Given the description of an element on the screen output the (x, y) to click on. 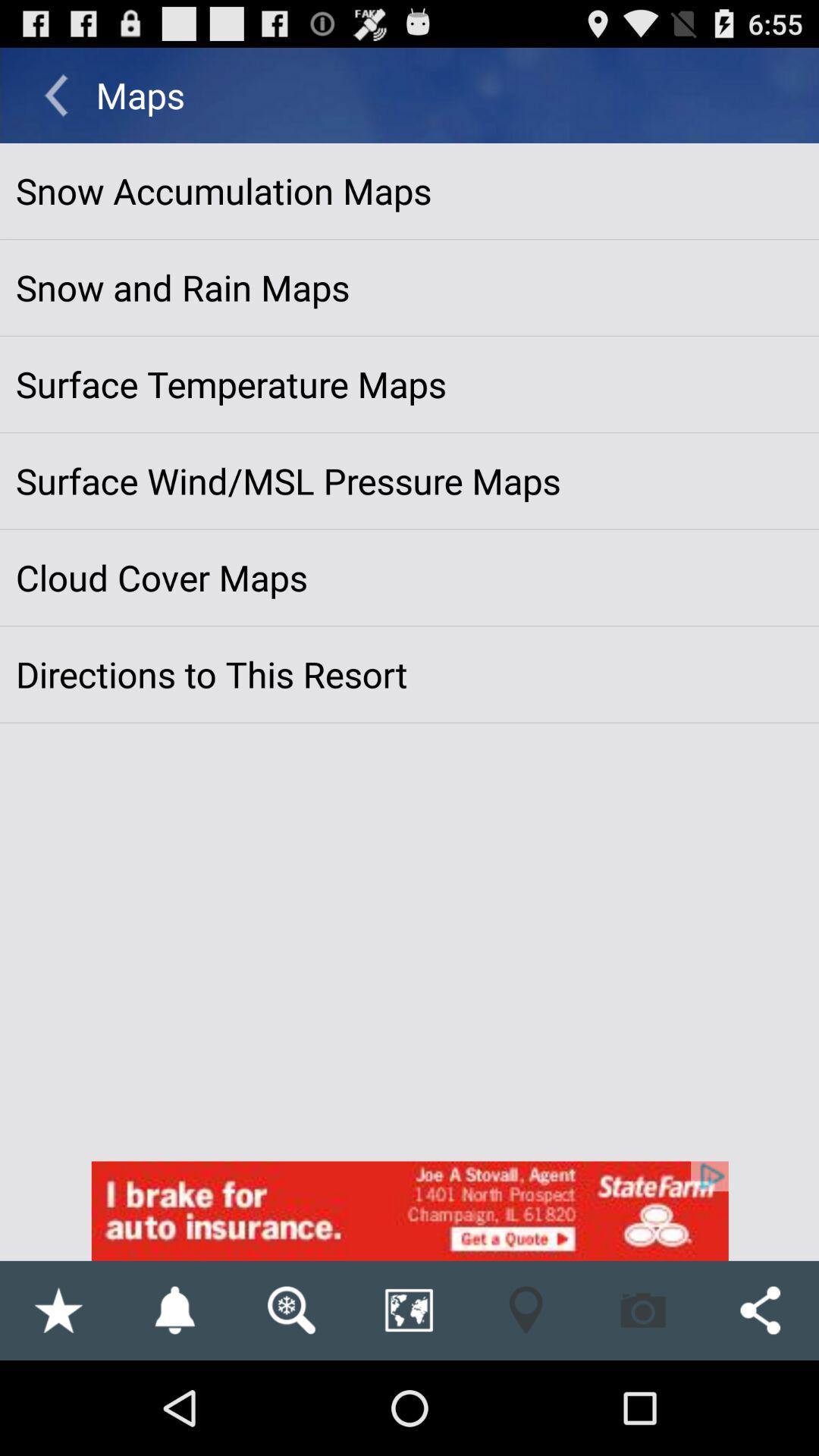
add icone (409, 1210)
